Given the description of an element on the screen output the (x, y) to click on. 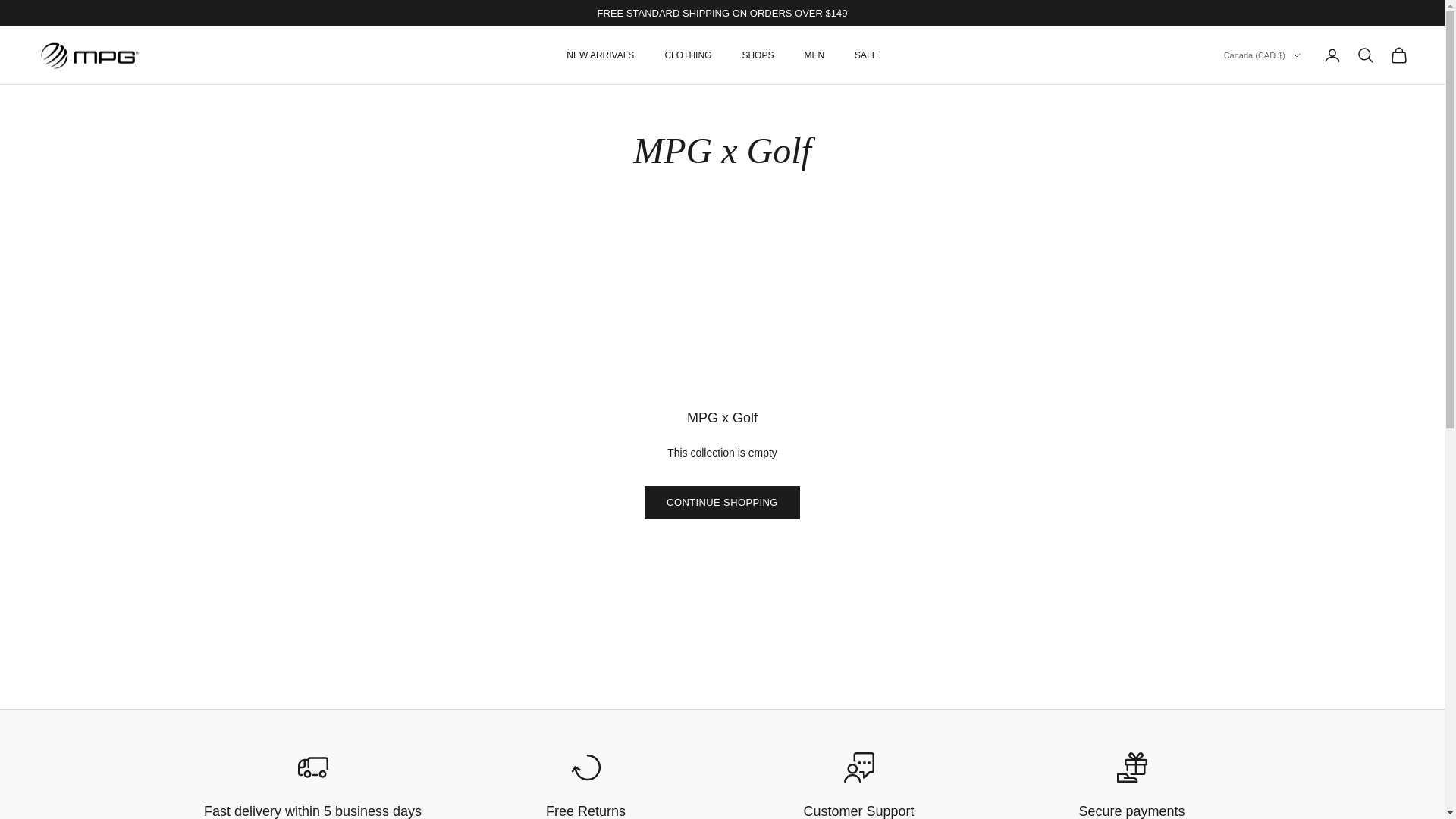
MPG Sport (89, 55)
NEW ARRIVALS (599, 55)
